Given the description of an element on the screen output the (x, y) to click on. 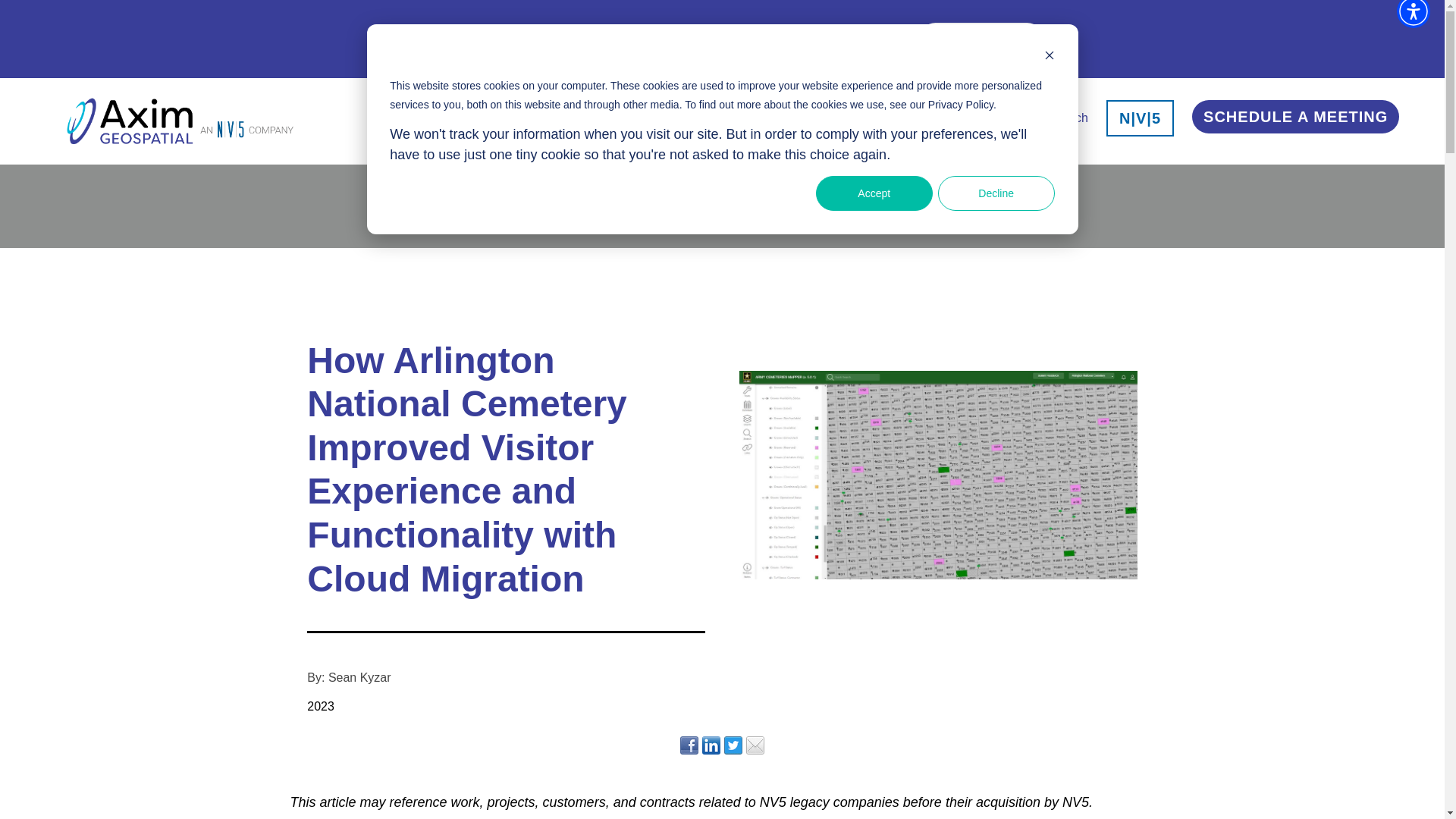
Federal (580, 117)
Search (1068, 117)
Resources (997, 117)
Commercial (766, 117)
Accessibility Menu (1412, 13)
SCHEDULE A MEETING (1295, 120)
